Given the description of an element on the screen output the (x, y) to click on. 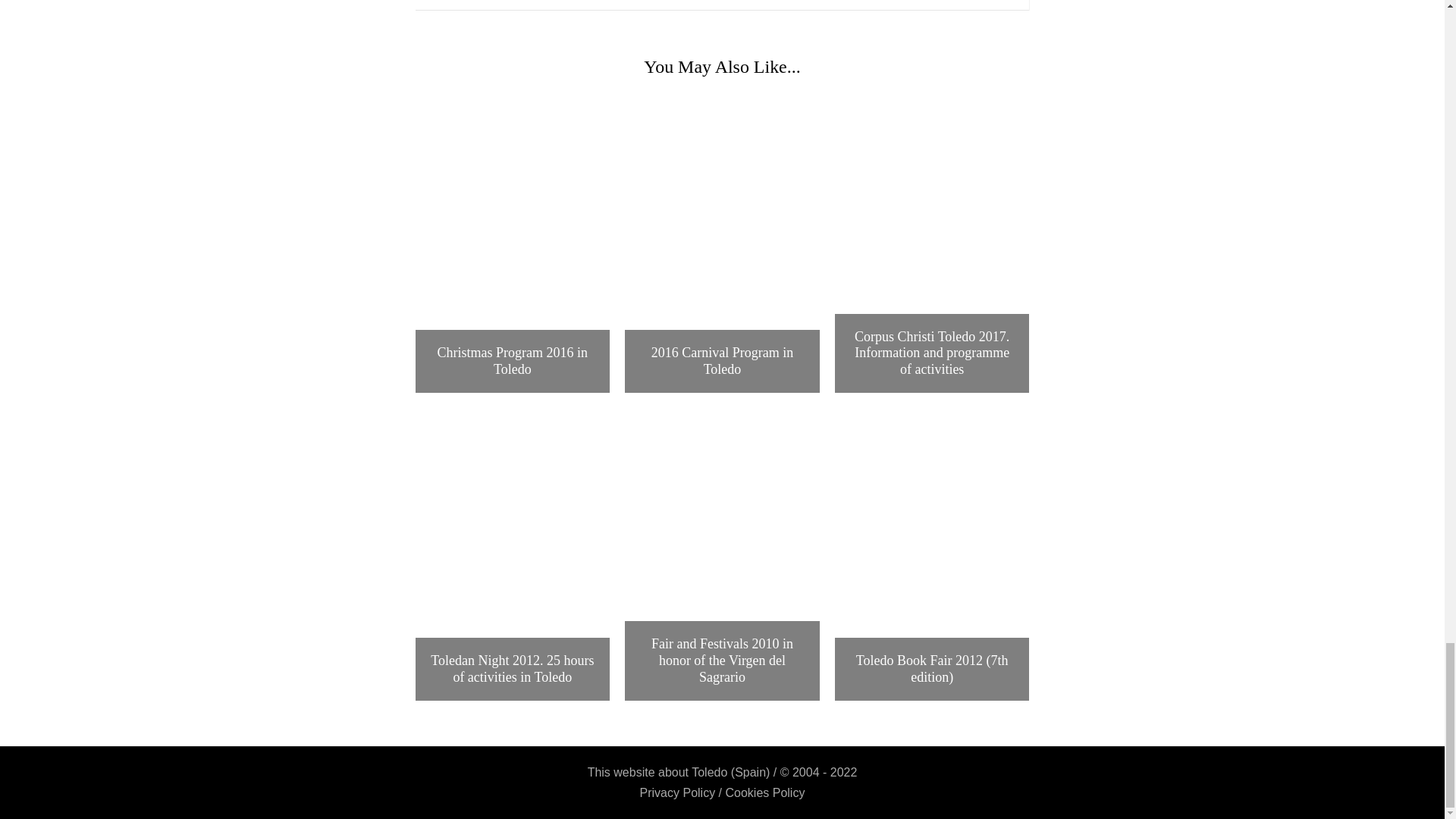
Christmas Program 2016 in Toledo (512, 360)
Fair and Festivals 2010 in honor of the Virgen del Sagrario (722, 660)
2016 Carnival Program in Toledo (722, 360)
Toledan Night 2012. 25 hours of activities in Toledo (512, 668)
